Given the description of an element on the screen output the (x, y) to click on. 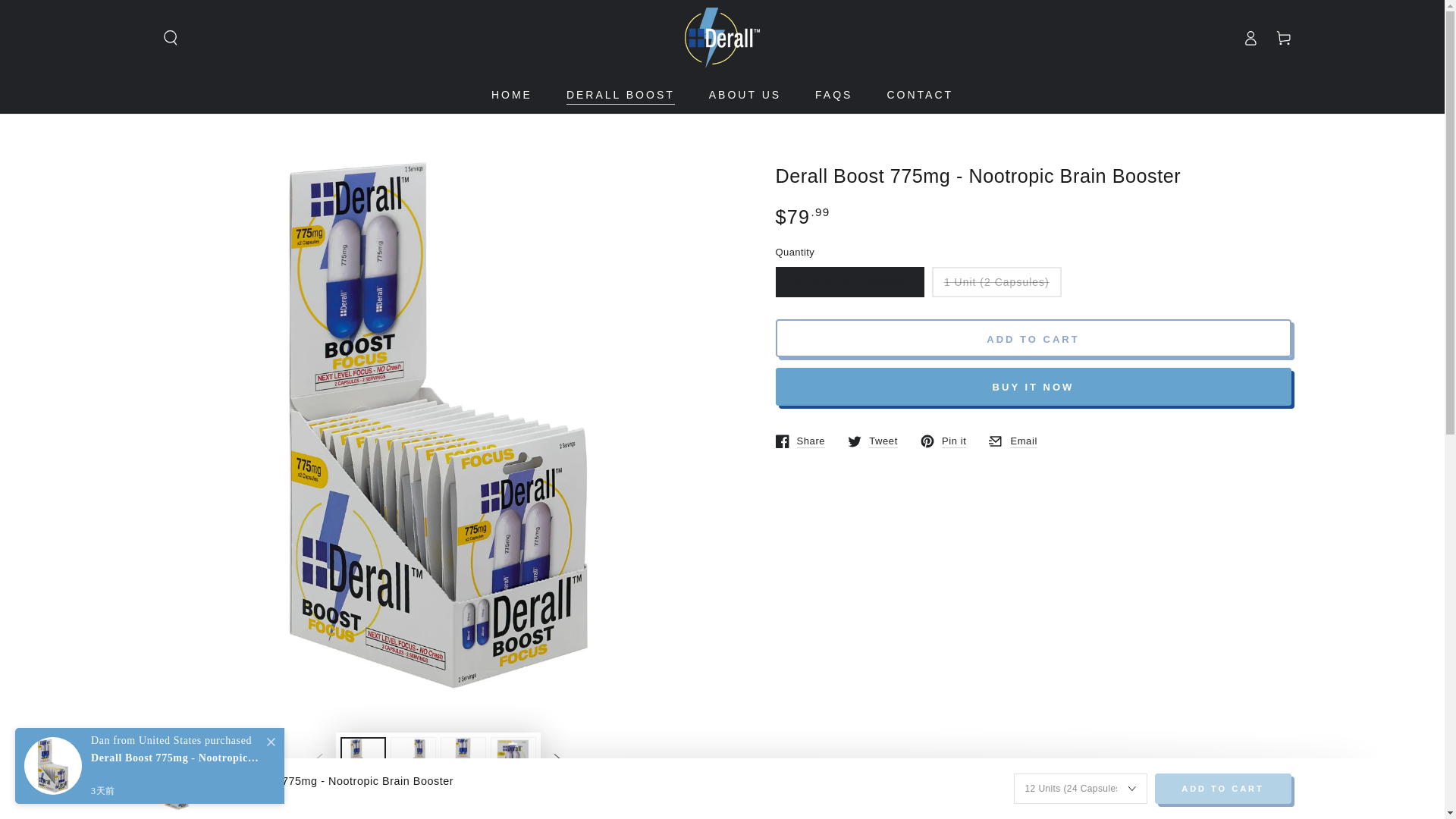
DERALL BOOST (619, 94)
FAQS (833, 94)
ADD TO CART (1032, 338)
SKIP TO CONTENT (67, 14)
HOME (511, 94)
SKIP TO PRODUCT INFORMATION (243, 159)
CONTACT (919, 94)
Log in (799, 441)
ABOUT US (1249, 37)
BUY IT NOW (872, 441)
